Given the description of an element on the screen output the (x, y) to click on. 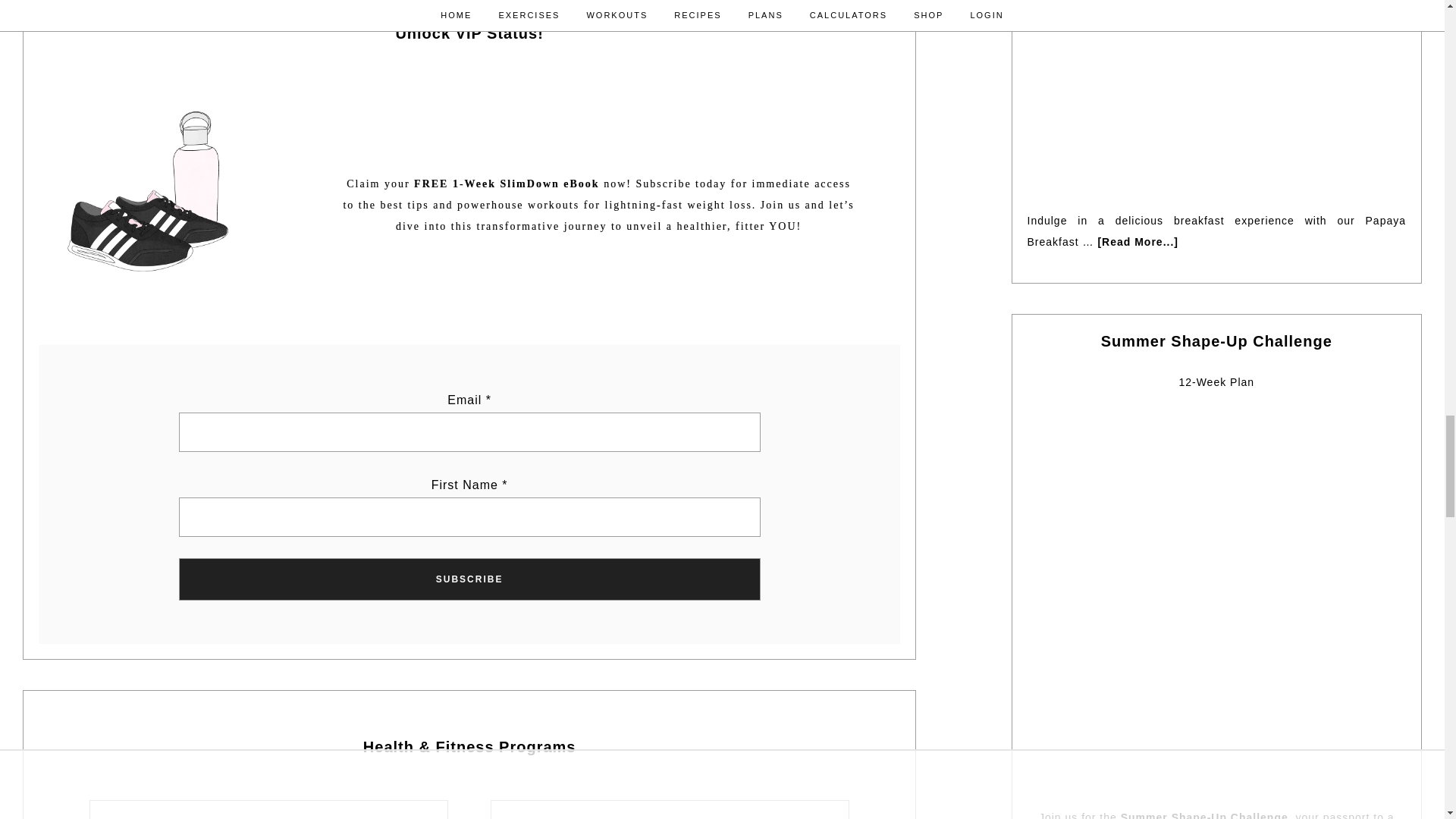
Subscribe (469, 578)
